Given the description of an element on the screen output the (x, y) to click on. 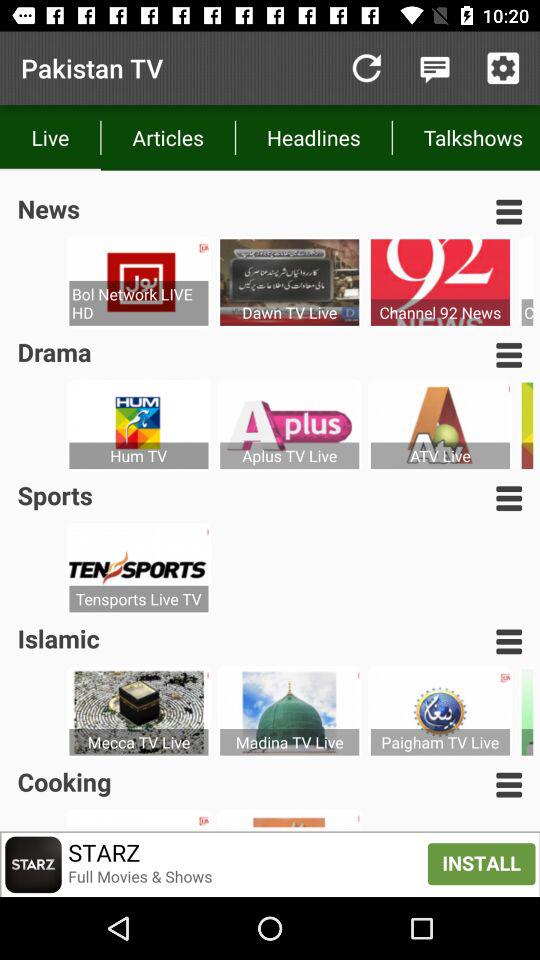
turn off app above the headlines app (366, 67)
